Given the description of an element on the screen output the (x, y) to click on. 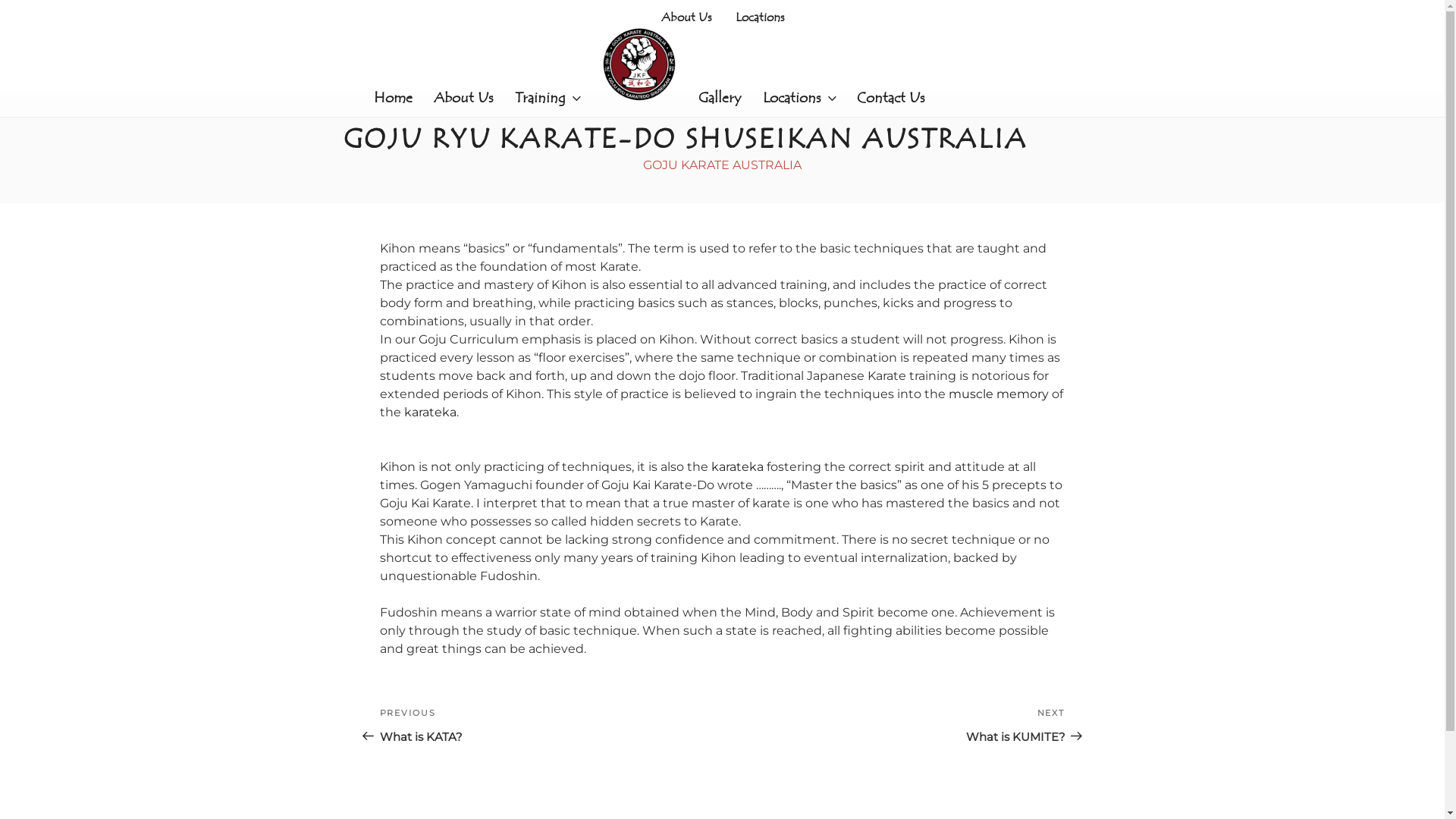
Training Element type: text (546, 97)
Next Post
NEXT
What is KUMITE? Element type: text (892, 724)
Home Element type: text (392, 97)
Gallery Element type: text (718, 97)
karateka Element type: text (429, 411)
GOJU RYU KARATE-DO SHUSEIKAN AUSTRALIA Element type: text (684, 138)
Locations Element type: text (759, 16)
muscle memory Element type: text (997, 393)
Previous Post
PREVIOUS
What is KATA? Element type: text (550, 724)
Locations Element type: text (798, 97)
About Us Element type: text (686, 16)
About Us Element type: text (463, 97)
karateka Element type: text (737, 466)
Contact Us Element type: text (890, 97)
